Given the description of an element on the screen output the (x, y) to click on. 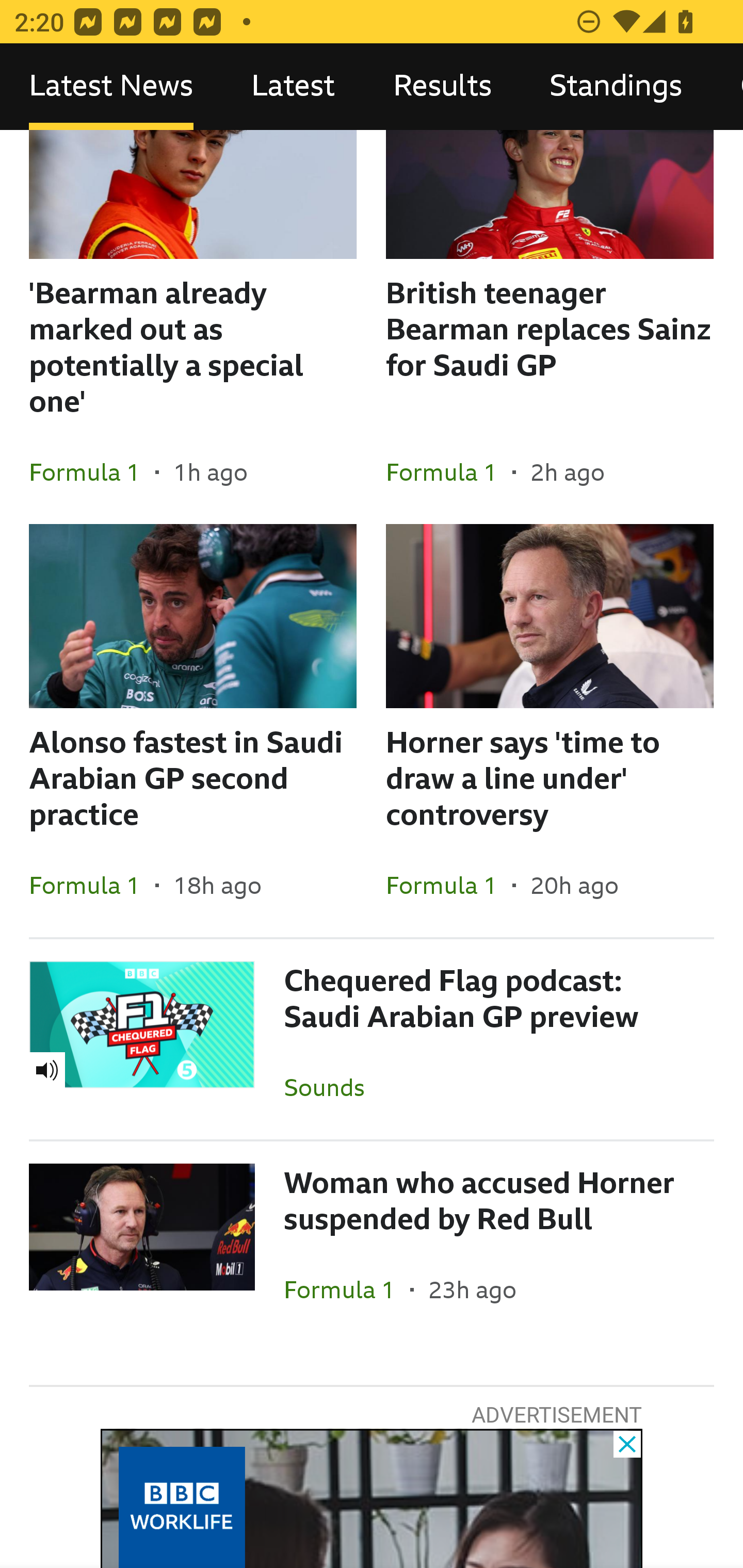
Latest News, selected Latest News (111, 86)
Latest (293, 86)
Results (442, 86)
Standings (615, 86)
Sounds In the section Sounds (330, 1086)
